Given the description of an element on the screen output the (x, y) to click on. 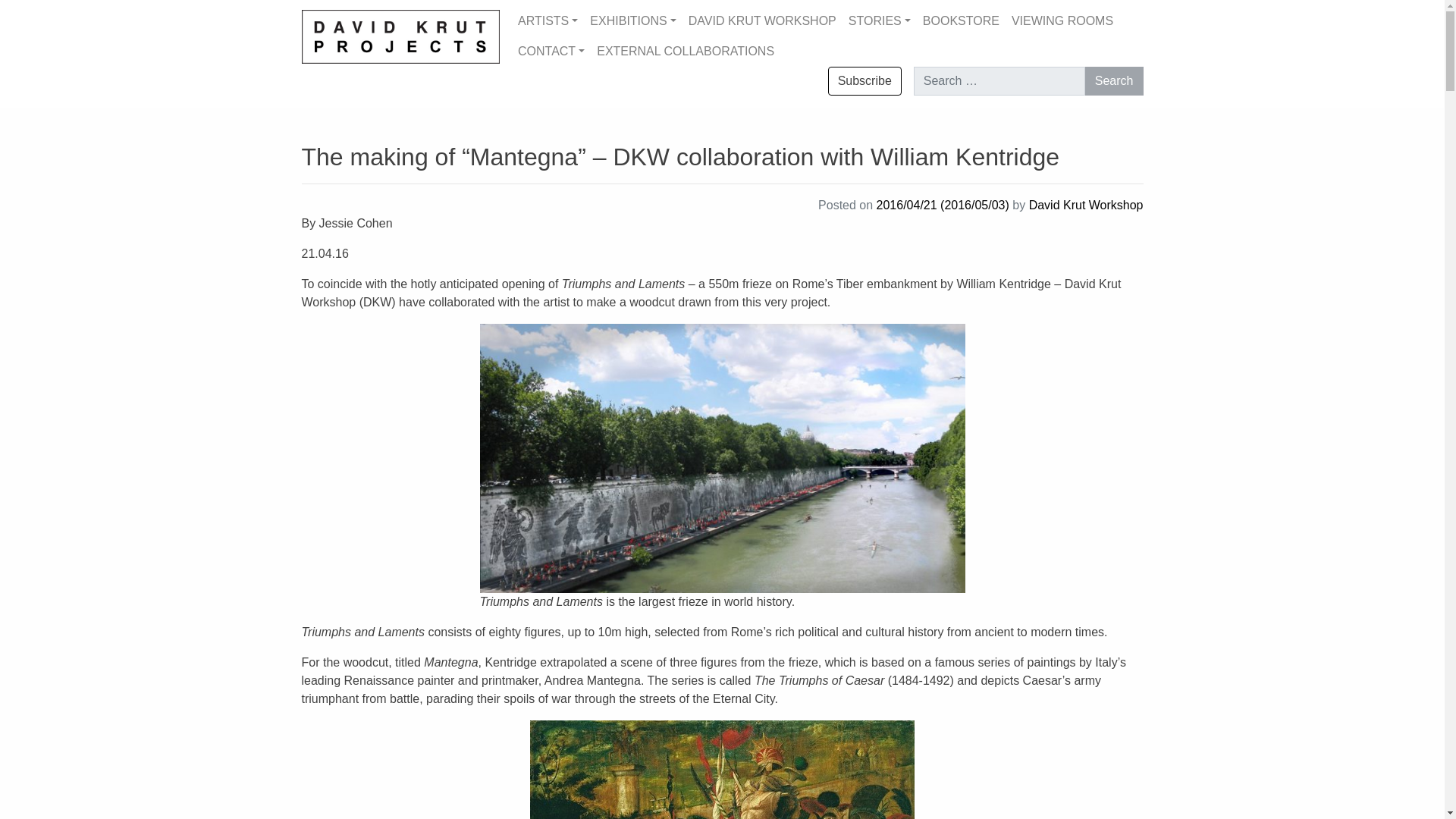
Search (1113, 80)
EXHIBITIONS (632, 20)
ARTISTS (547, 20)
STORIES (880, 20)
BOOKSTORE (961, 20)
EXHIBITIONS (632, 20)
ARTISTS (547, 20)
DAVID KRUT WORKSHOP (762, 20)
STORIES (880, 20)
CONTACT (551, 51)
Subscribe (864, 80)
VIEWING ROOMS (1062, 20)
EXTERNAL COLLABORATIONS (685, 51)
DAVID KRUT WORKSHOP (762, 20)
David Krut Workshop (1085, 205)
